Given the description of an element on the screen output the (x, y) to click on. 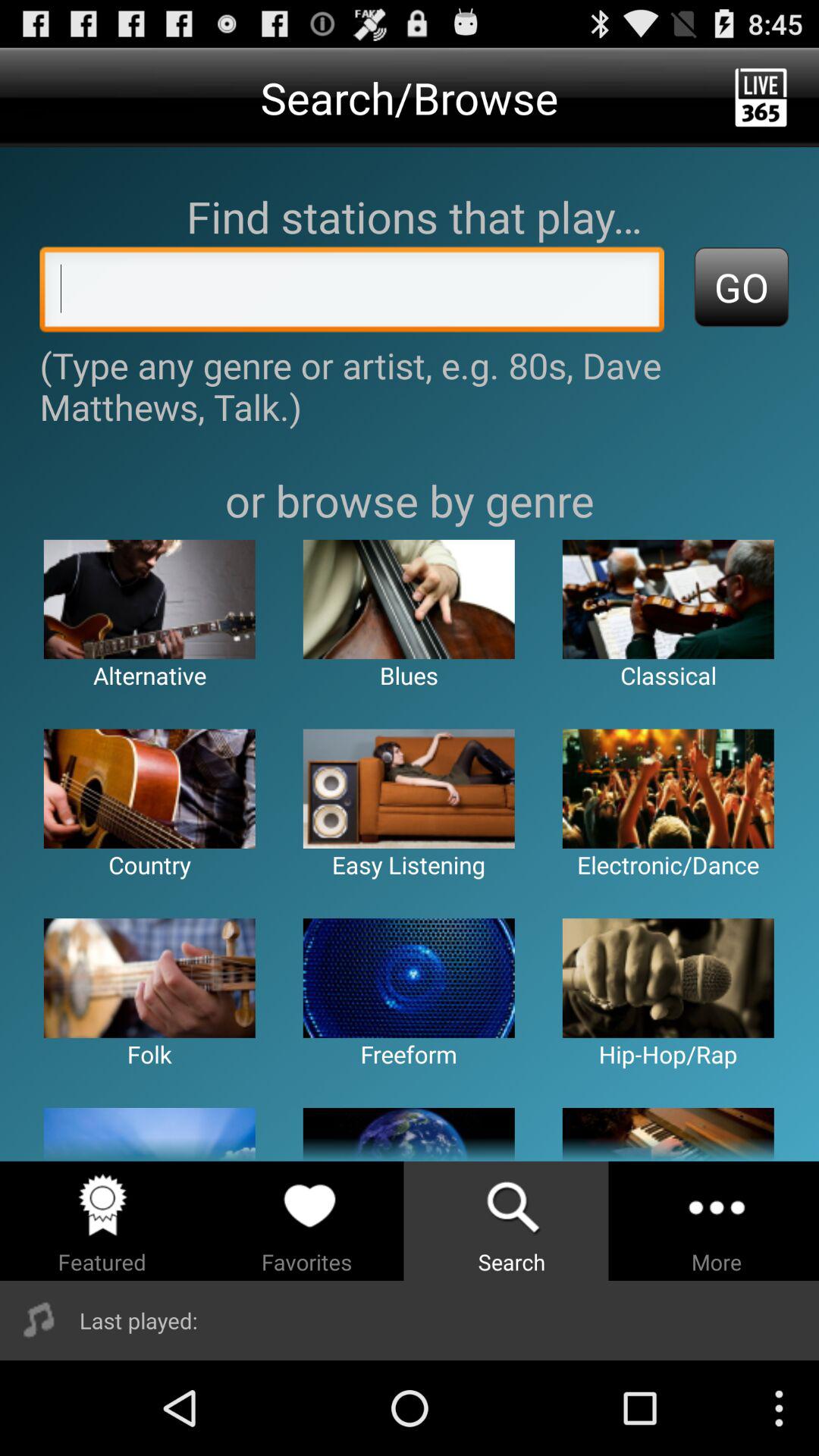
put in artist (351, 293)
